Given the description of an element on the screen output the (x, y) to click on. 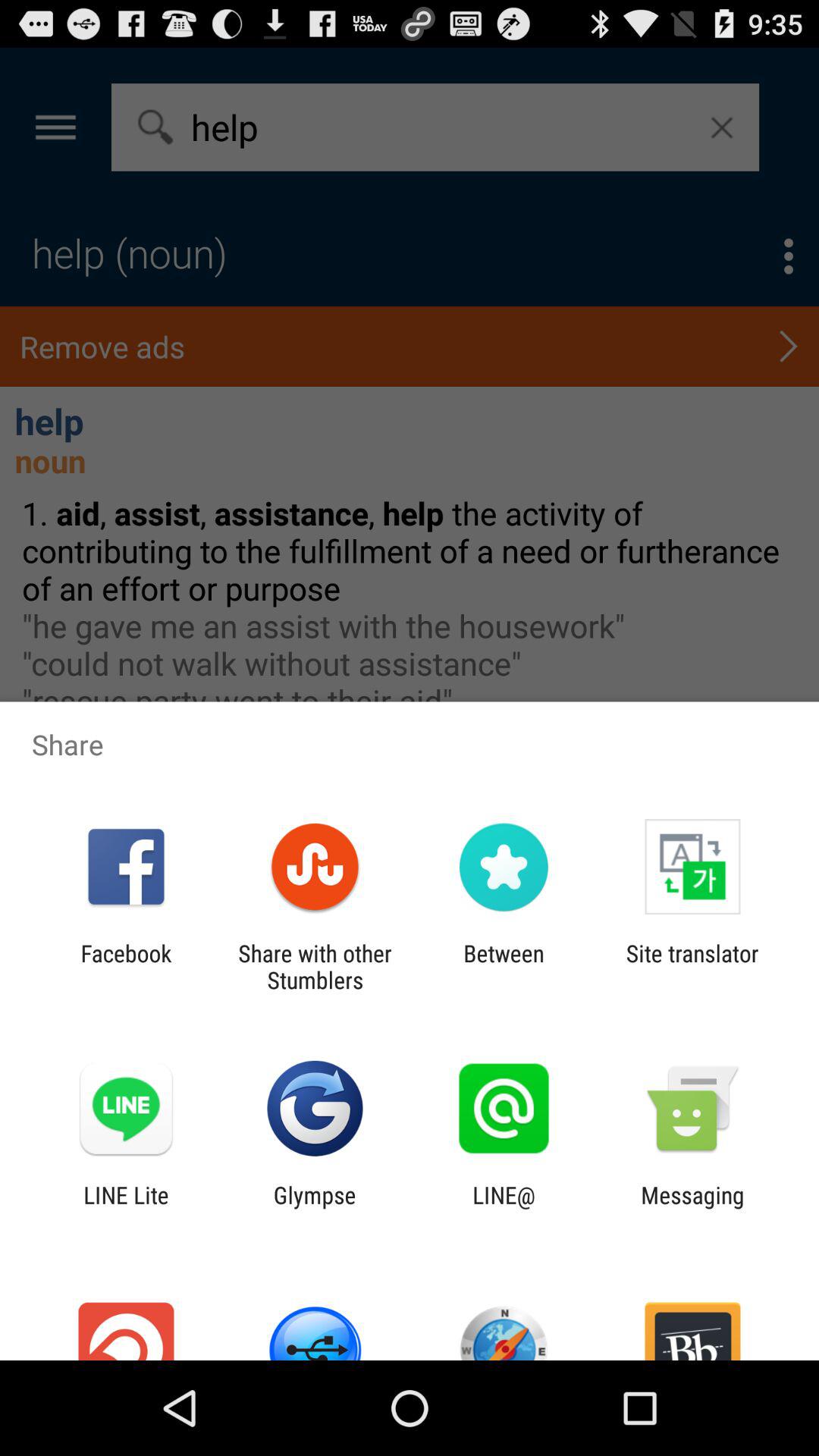
turn on the item next to share with other (503, 966)
